Given the description of an element on the screen output the (x, y) to click on. 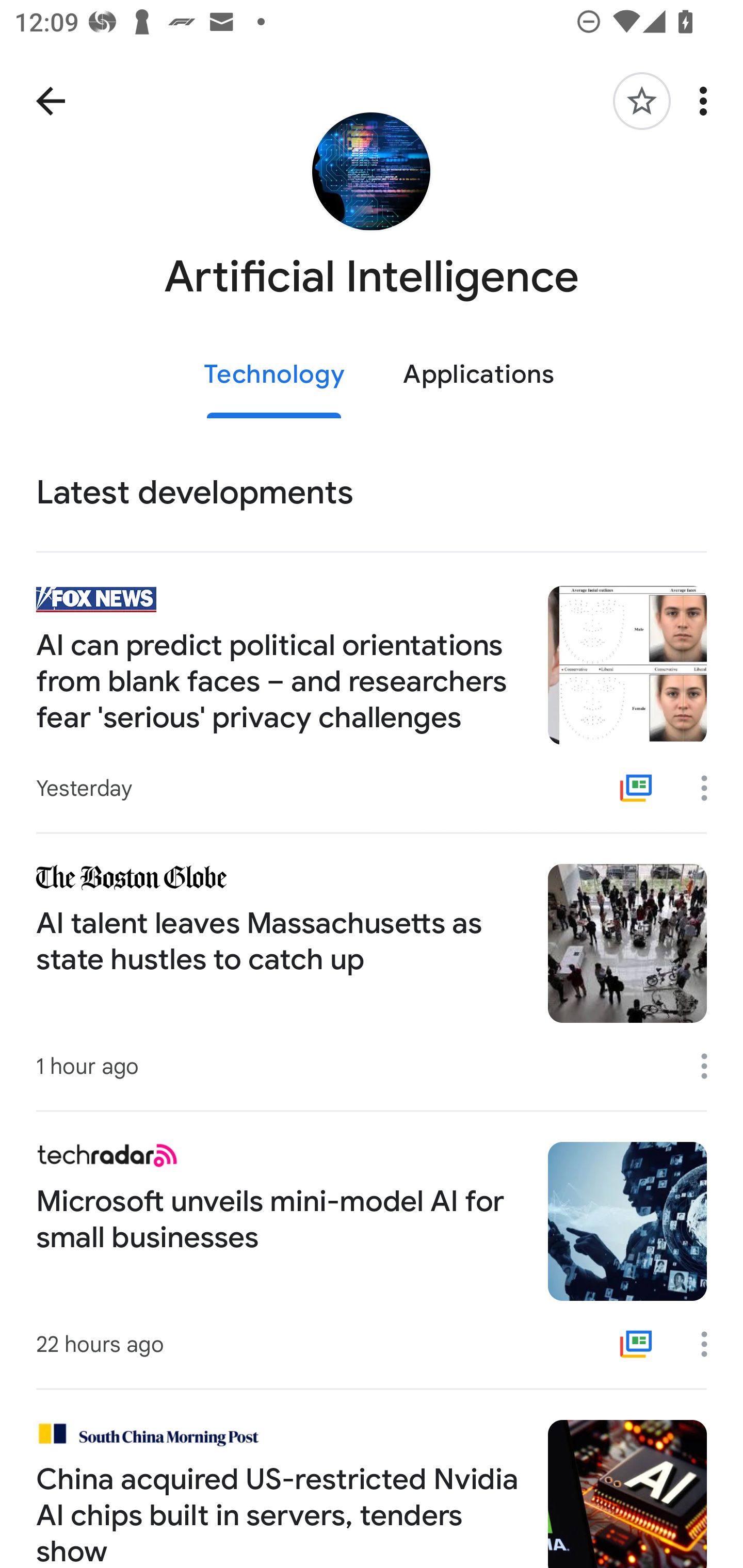
Navigate up (50, 101)
More options (706, 101)
Applications (478, 375)
Latest developments (371, 492)
More options (711, 787)
More options (711, 1066)
More options (711, 1344)
